Given the description of an element on the screen output the (x, y) to click on. 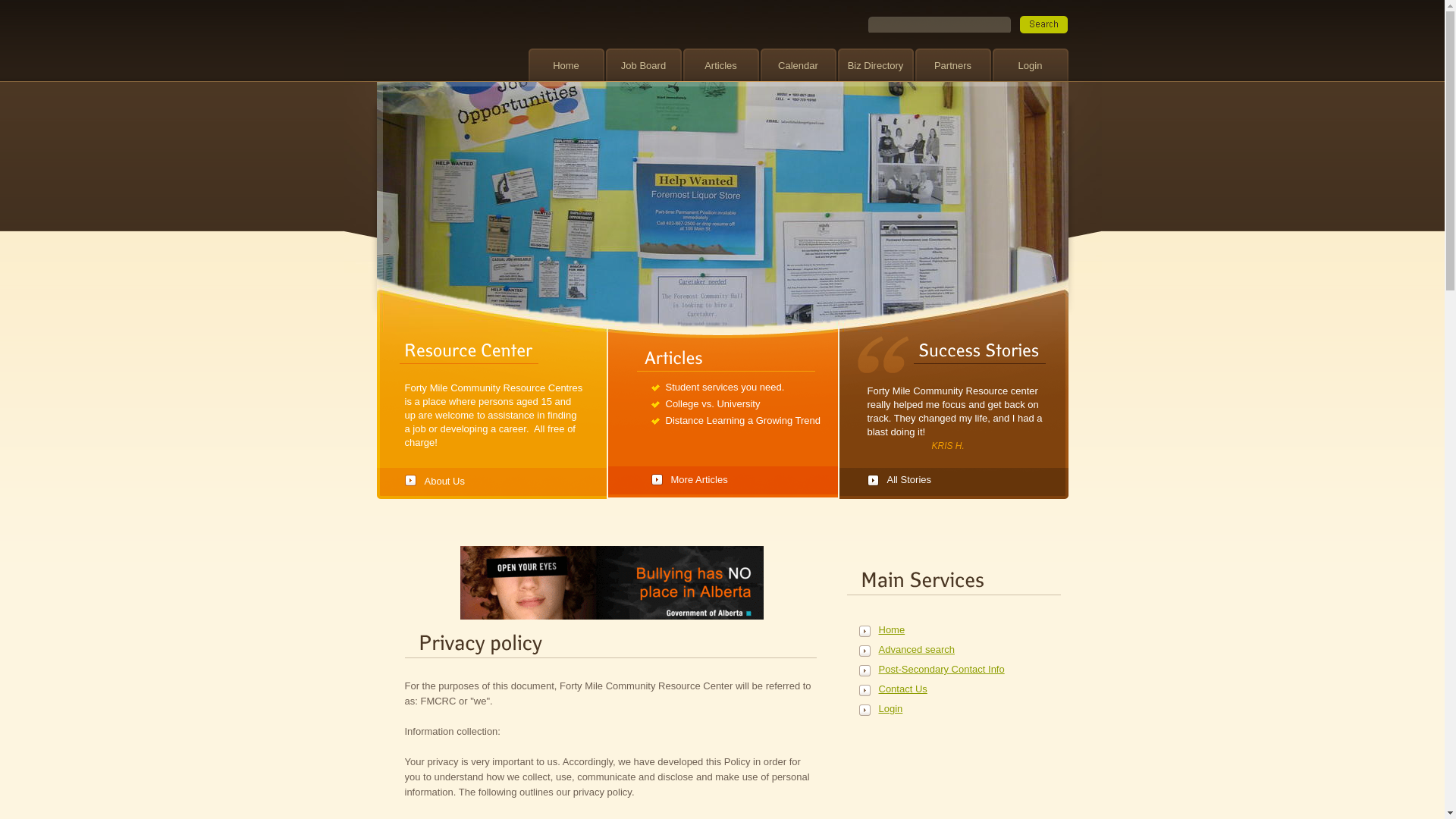
Login Element type: text (1029, 65)
Enter the terms you wish to search for. Element type: hover (938, 24)
Calendar Element type: text (797, 65)
Biz Directory Element type: text (875, 65)
More Articles Element type: text (743, 473)
All Stories Element type: text (956, 469)
Partners Element type: text (952, 65)
Advanced search Element type: text (941, 649)
Post-Secondary Contact Info Element type: text (941, 668)
Student services you need. Element type: text (724, 386)
College vs. University Element type: text (712, 403)
Job Board Element type: text (642, 65)
About Us Element type: text (493, 475)
  Element type: text (1042, 24)
Home Element type: text (941, 629)
Distance Learning a Growing Trend Element type: text (743, 420)
Login Element type: text (941, 708)
Contact Us Element type: text (941, 688)
Home Element type: text (565, 65)
Articles Element type: text (720, 65)
